Given the description of an element on the screen output the (x, y) to click on. 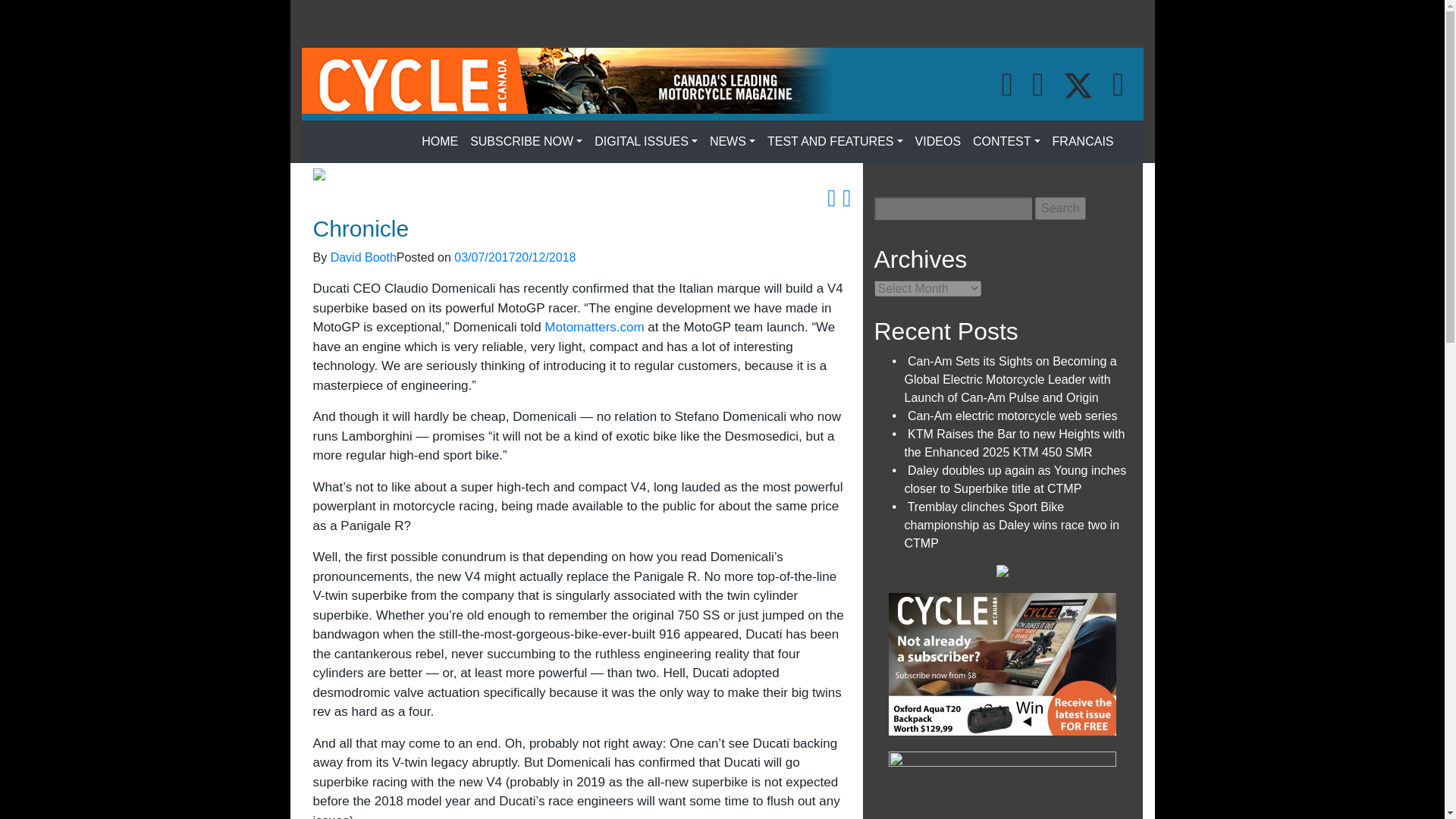
Search (1060, 208)
HOME (439, 141)
DIGITAL ISSUES (645, 141)
SUBSCRIBE NOW (526, 141)
Search (1060, 208)
